Given the description of an element on the screen output the (x, y) to click on. 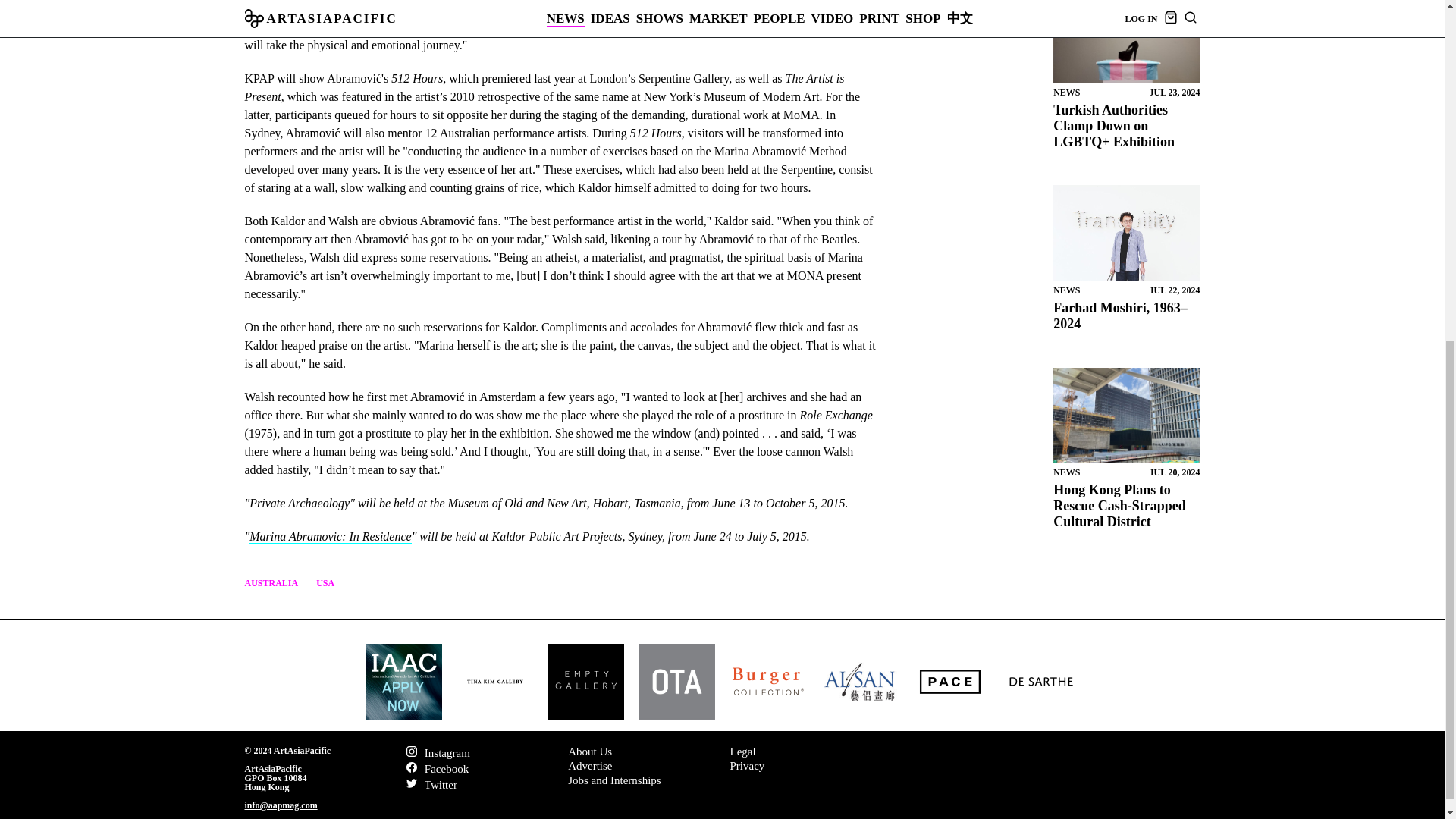
Marina Abramovic: In Residence (329, 536)
USA (324, 583)
AUSTRALIA (271, 583)
